Given the description of an element on the screen output the (x, y) to click on. 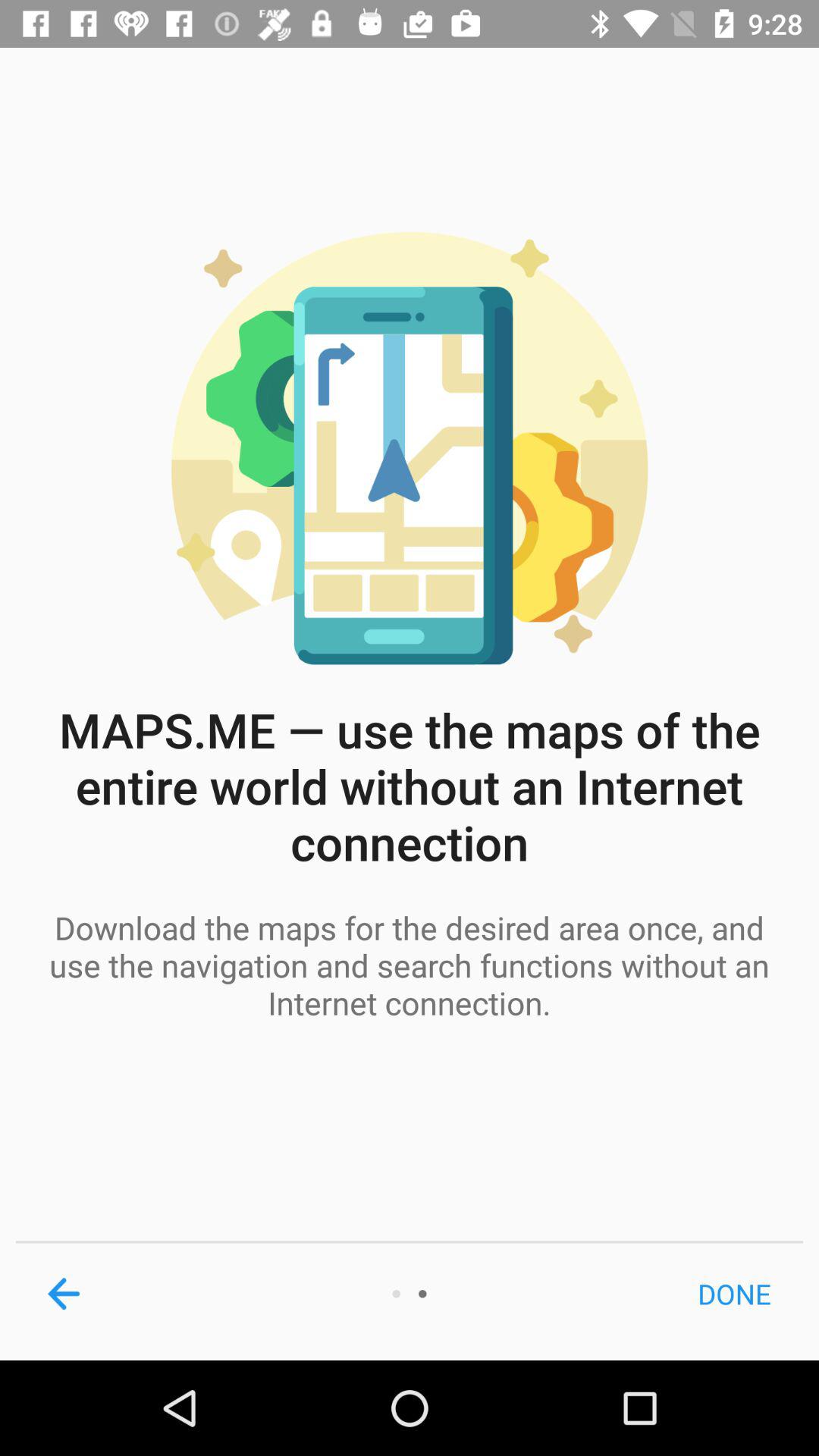
click done item (734, 1293)
